Given the description of an element on the screen output the (x, y) to click on. 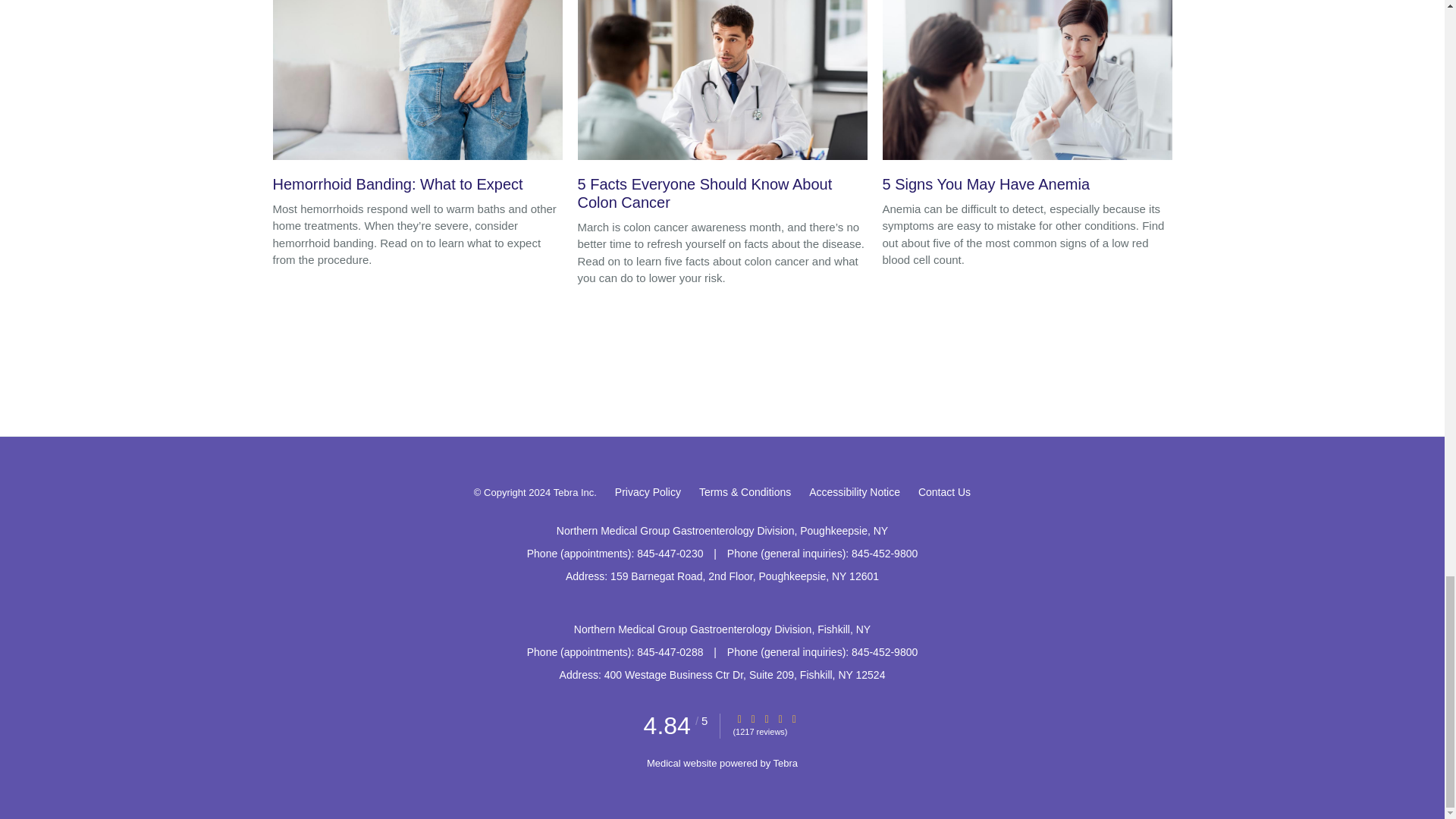
Star Rating (738, 718)
Star Rating (753, 718)
Hemorrhoid Banding: What to Expect (417, 100)
Star Rating (780, 718)
Star Rating (794, 718)
Star Rating (766, 718)
